Given the description of an element on the screen output the (x, y) to click on. 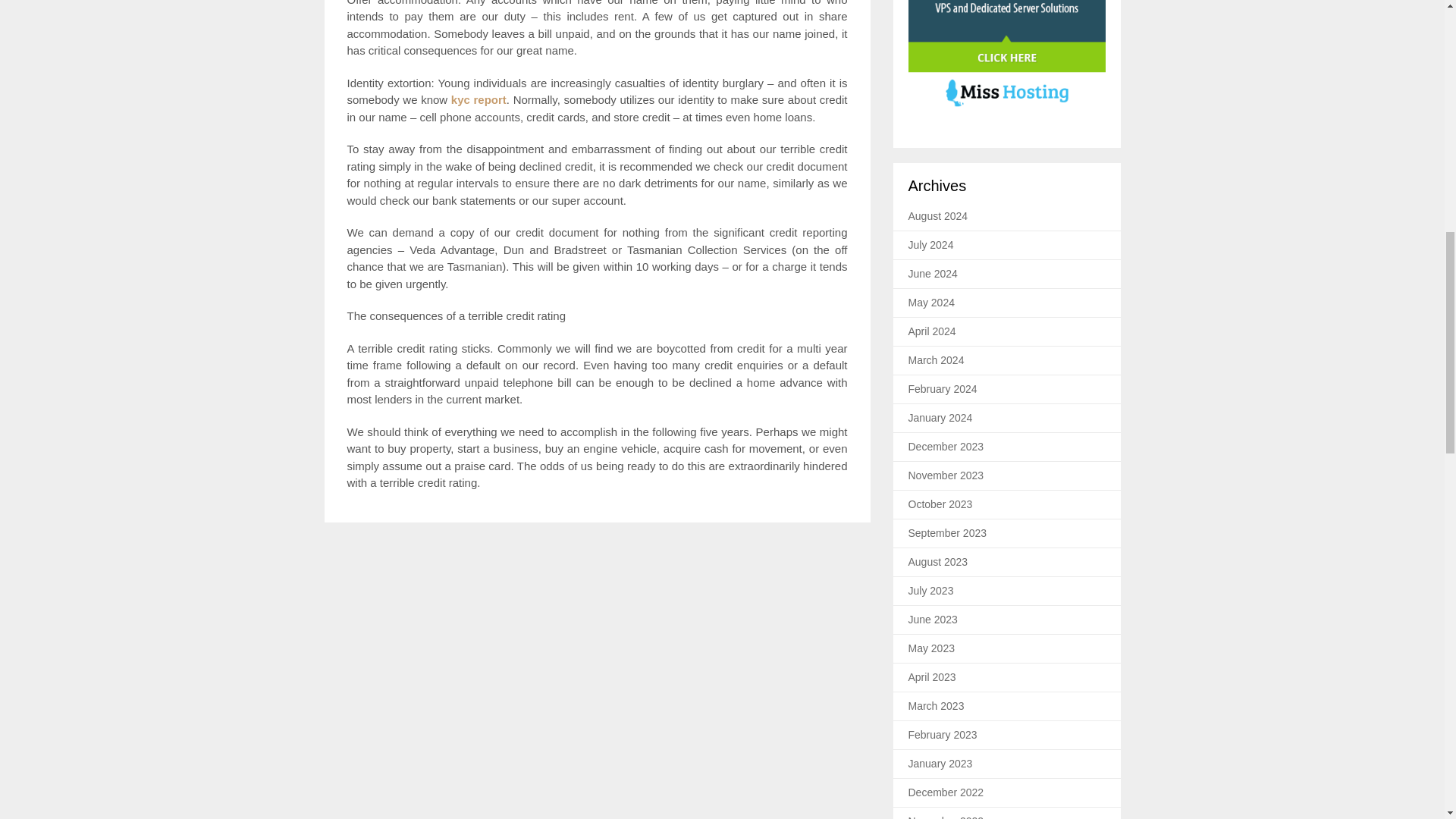
November 2023 (946, 475)
October 2023 (940, 503)
March 2024 (935, 359)
June 2024 (933, 273)
kyc report (478, 99)
December 2023 (946, 446)
July 2023 (930, 590)
August 2023 (938, 562)
May 2024 (931, 302)
June 2023 (933, 619)
